Given the description of an element on the screen output the (x, y) to click on. 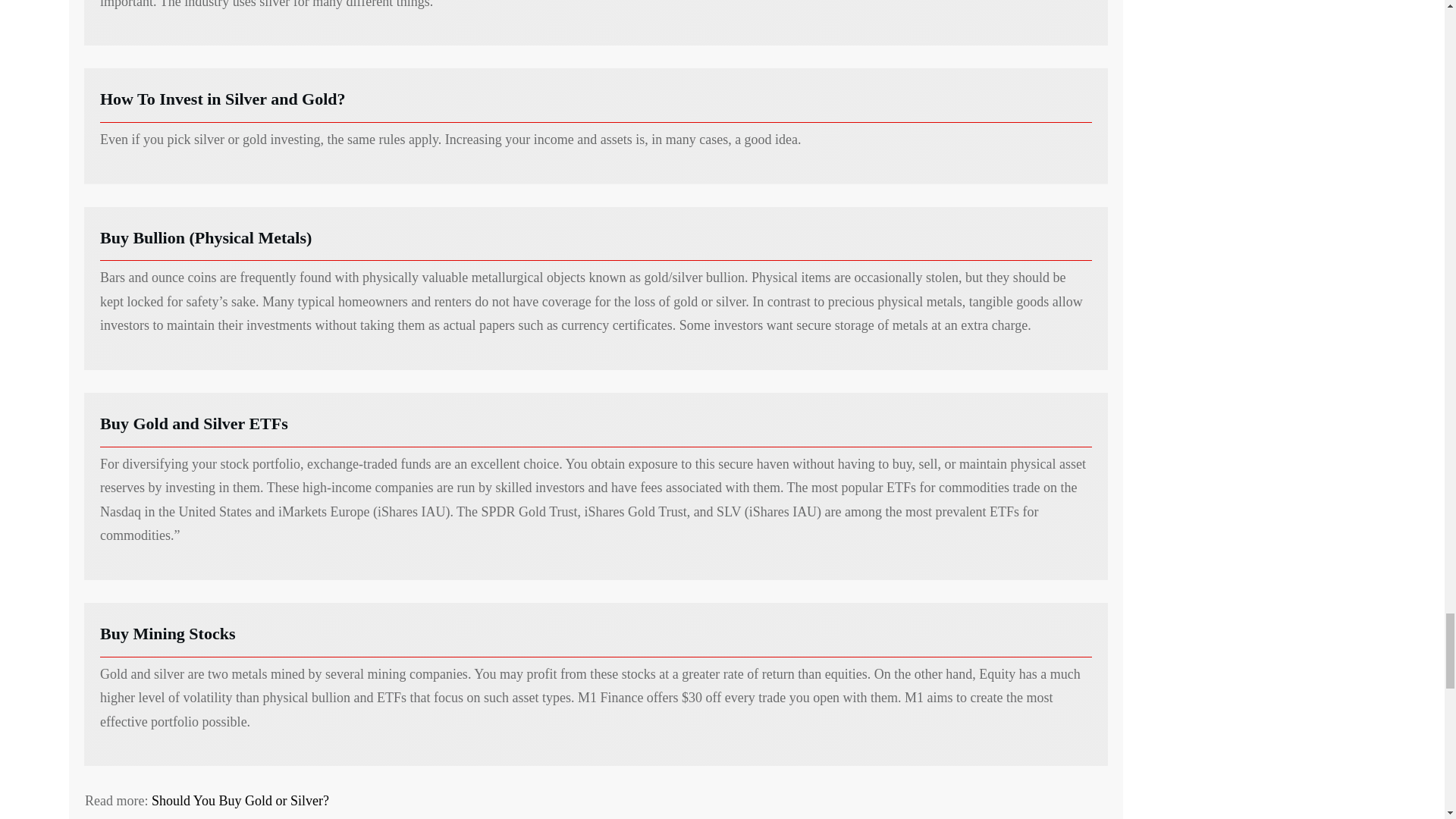
Should You Buy Gold or Silver? (240, 800)
